Given the description of an element on the screen output the (x, y) to click on. 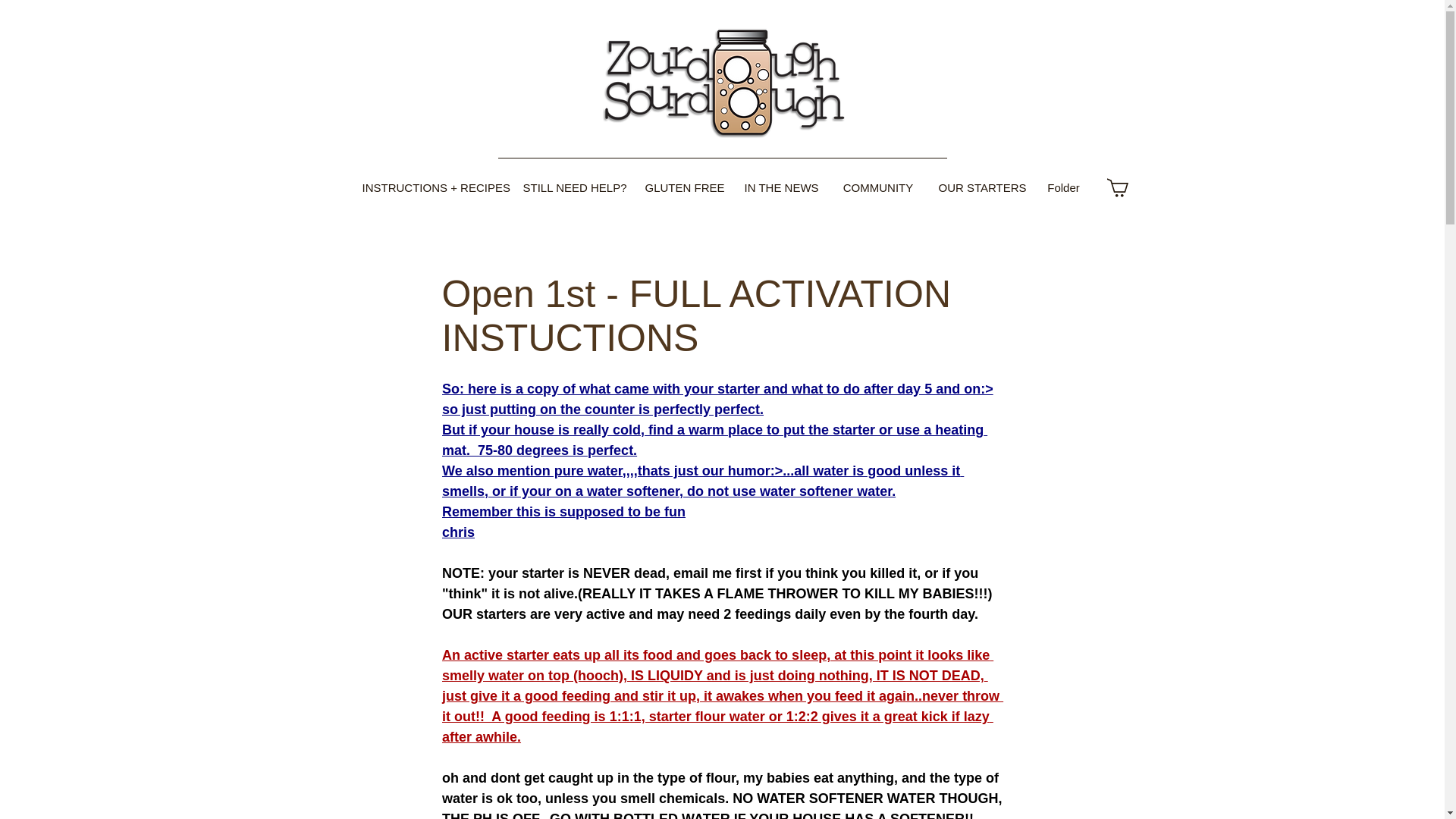
IN THE NEWS (780, 187)
COMMUNITY (877, 187)
GLUTEN FREE (681, 187)
OUR STARTERS (979, 187)
STILL NEED HELP? (572, 187)
